Given the description of an element on the screen output the (x, y) to click on. 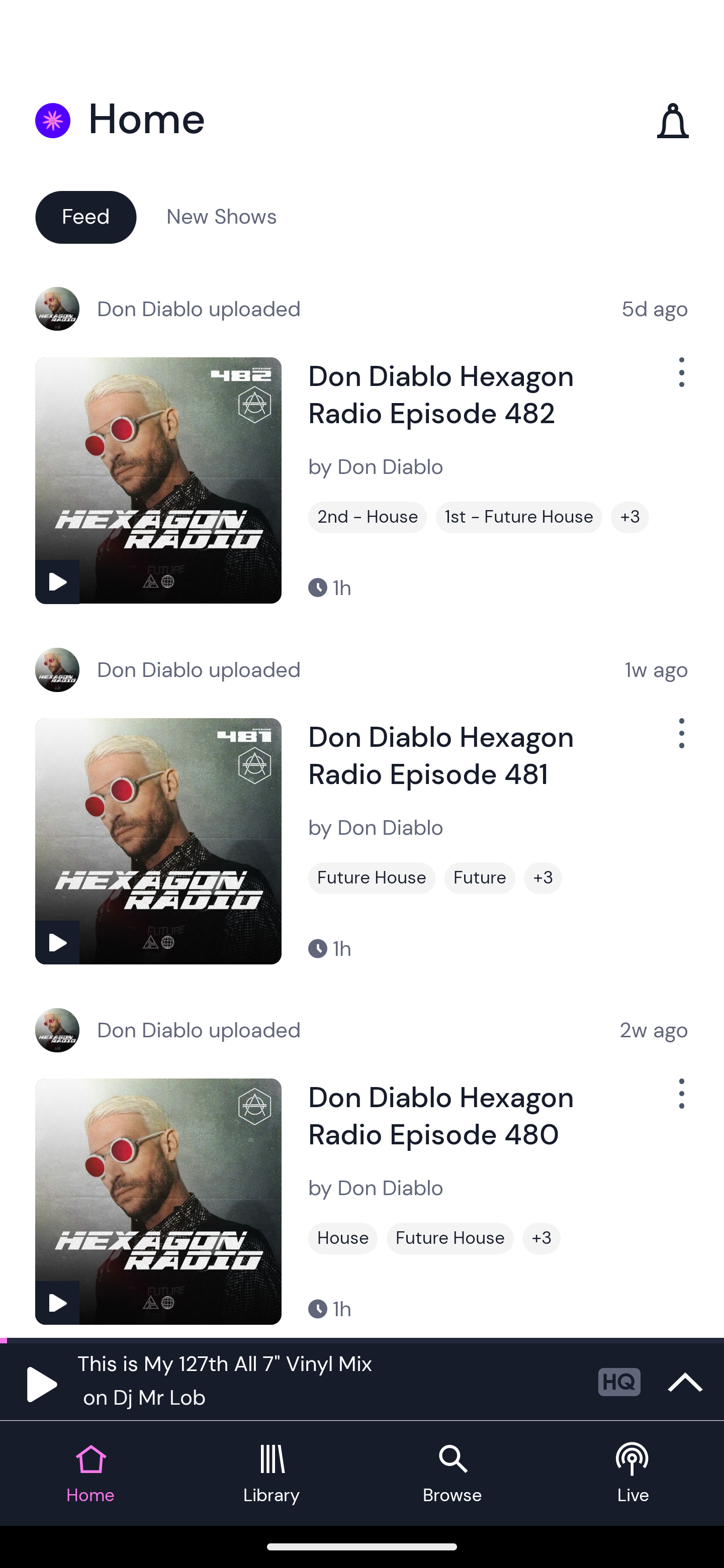
Feed (85, 216)
New Shows (221, 216)
Show Options Menu Button (679, 379)
2nd - House (367, 517)
1st - Future House (518, 517)
Show Options Menu Button (679, 740)
Future House (371, 877)
Future (479, 877)
Show Options Menu Button (679, 1101)
House (342, 1238)
Future House (450, 1238)
Home tab Home (90, 1473)
Library tab Library (271, 1473)
Browse tab Browse (452, 1473)
Live tab Live (633, 1473)
